Given the description of an element on the screen output the (x, y) to click on. 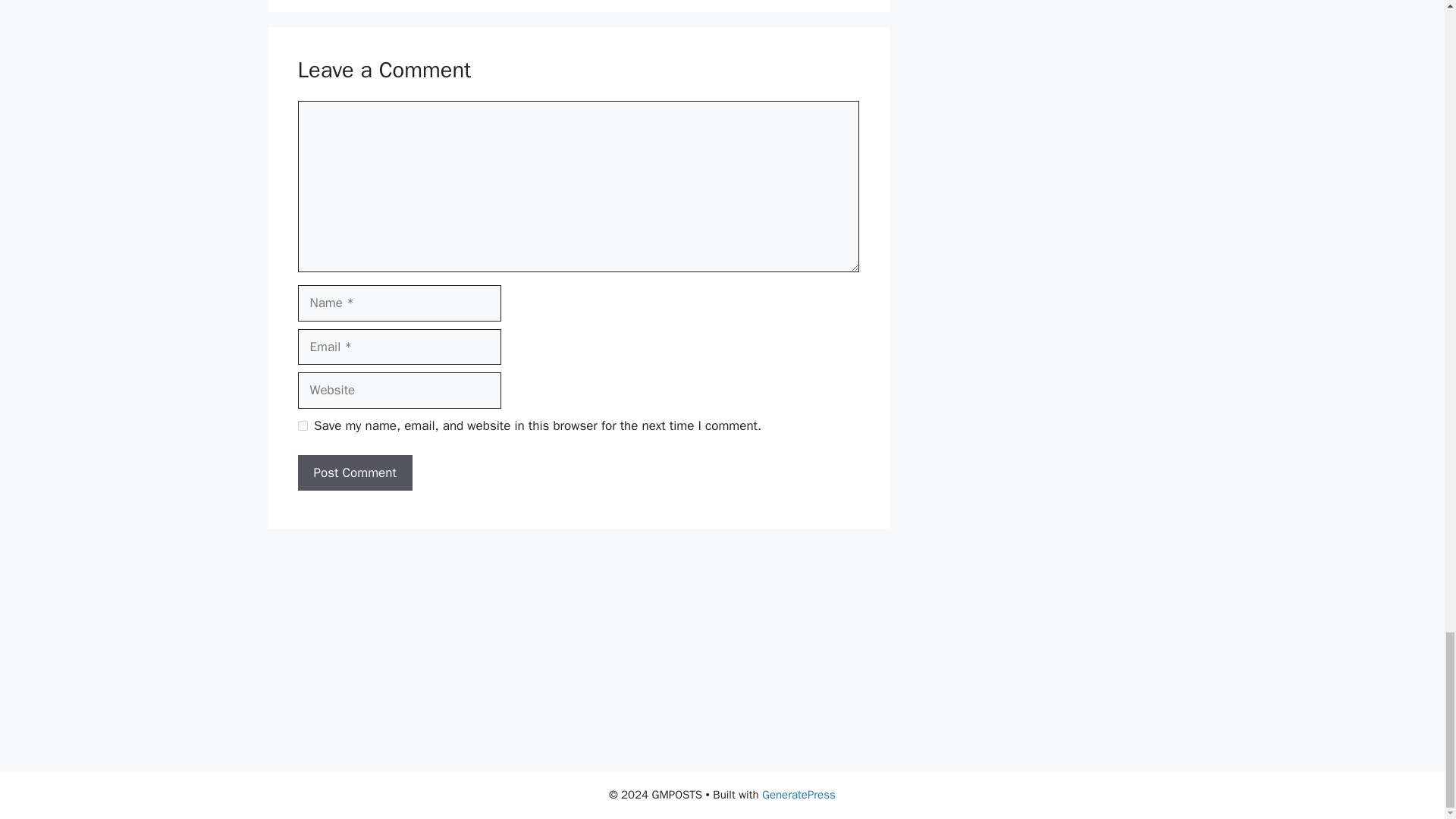
Post Comment (354, 473)
Post Comment (354, 473)
yes (302, 425)
